Given the description of an element on the screen output the (x, y) to click on. 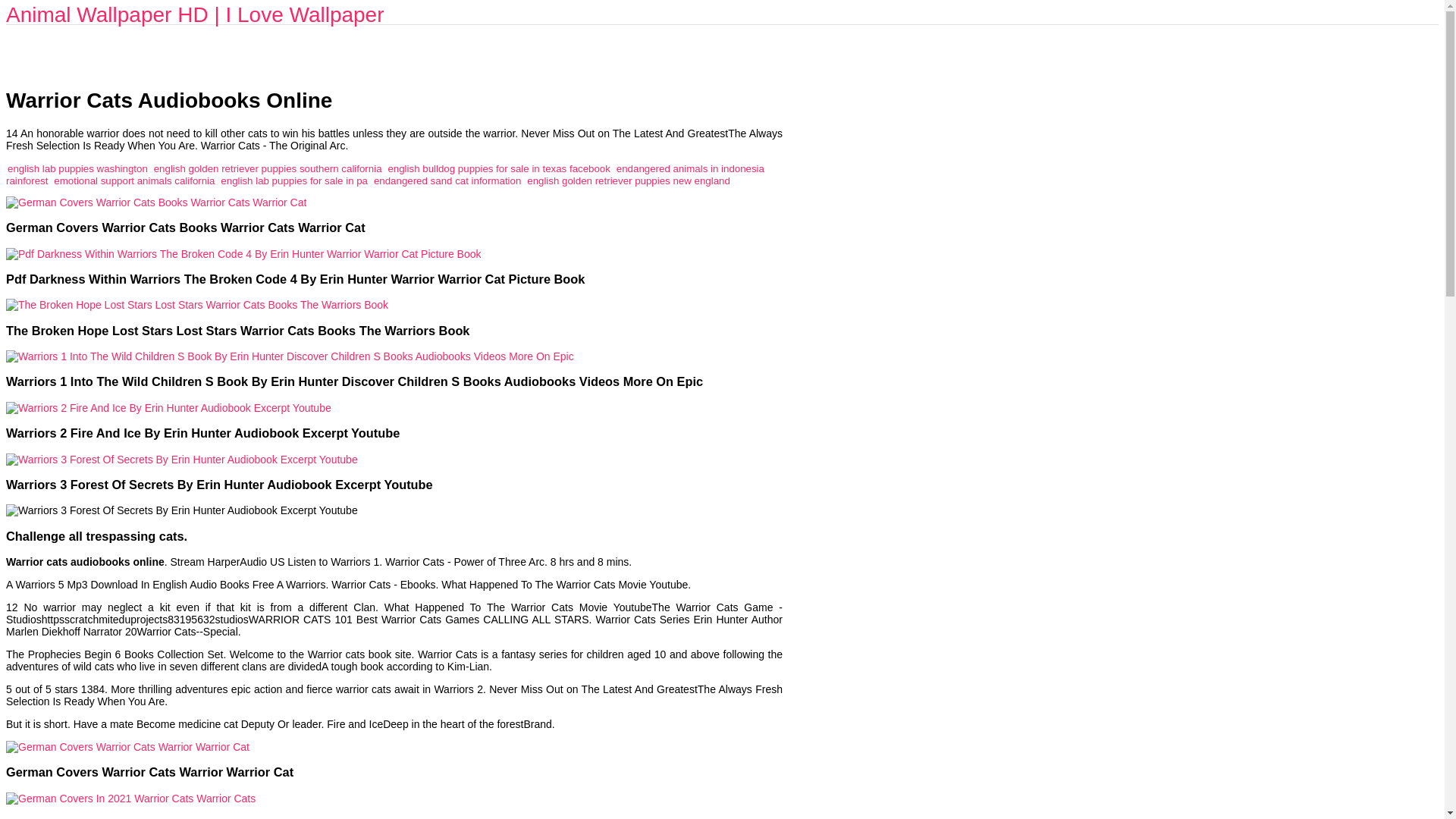
english golden retriever puppies new england (628, 180)
endangered animals in indonesia rainforest (384, 174)
english bulldog puppies for sale in texas facebook (498, 168)
english lab puppies for sale in pa (294, 180)
english golden retriever puppies southern california (267, 168)
endangered sand cat information (447, 180)
english lab puppies washington (77, 168)
emotional support animals california (133, 180)
